Given the description of an element on the screen output the (x, y) to click on. 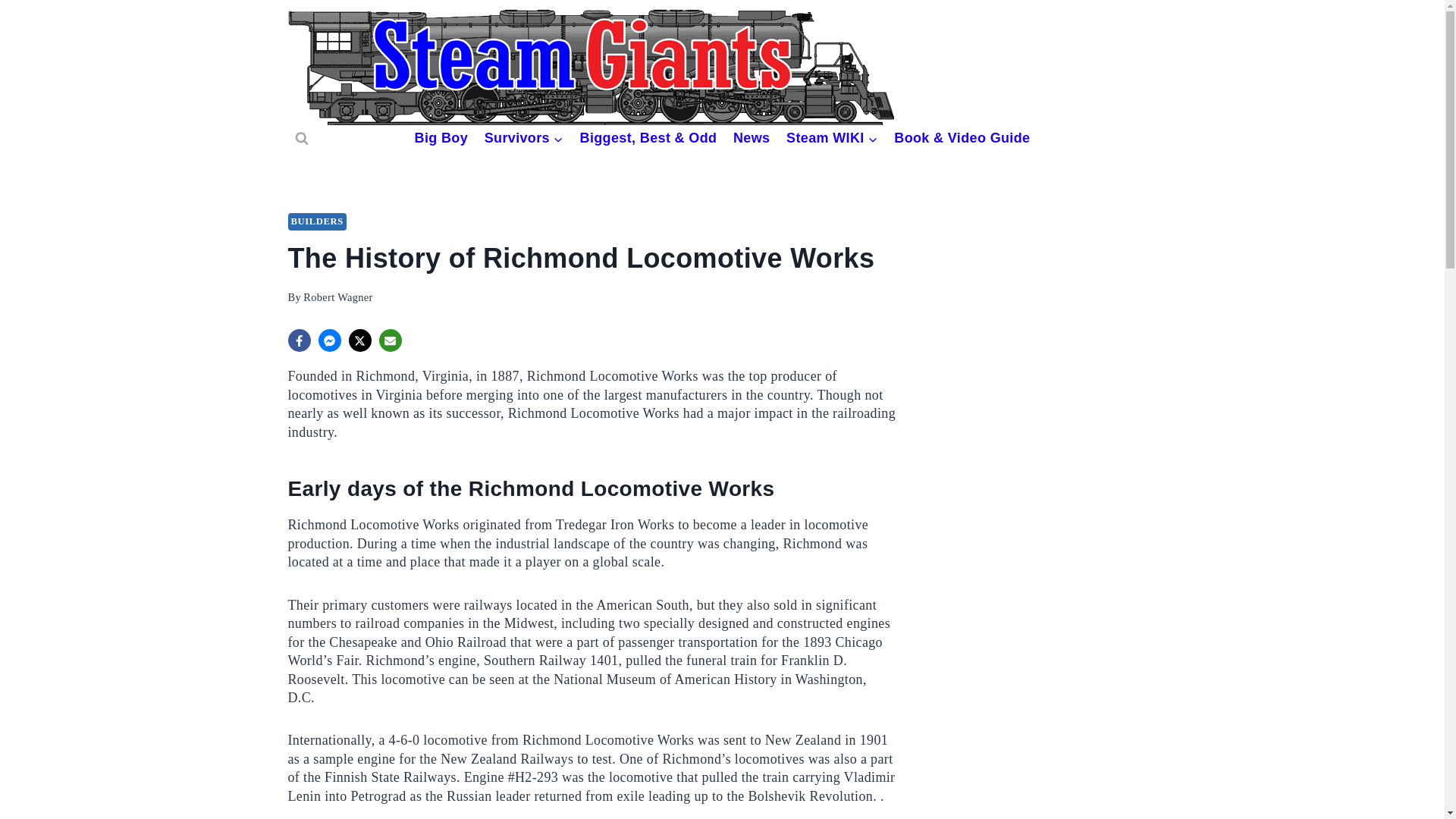
BUILDERS (317, 221)
Survivors (524, 138)
Big Boy (441, 138)
News (751, 138)
Steam WIKI (831, 138)
